Given the description of an element on the screen output the (x, y) to click on. 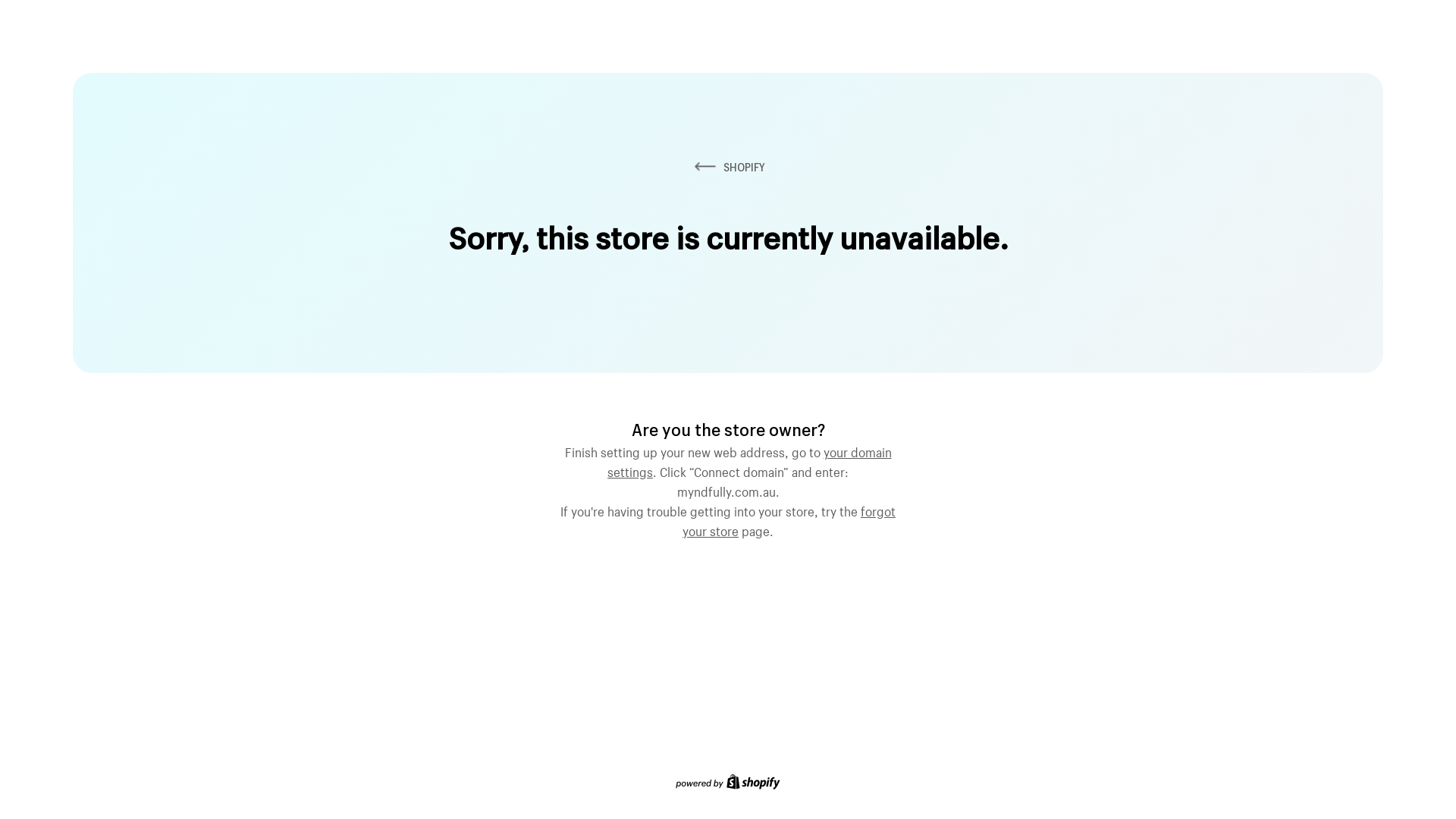
SHOPIFY Element type: text (727, 167)
your domain settings Element type: text (749, 460)
forgot your store Element type: text (788, 519)
